Given the description of an element on the screen output the (x, y) to click on. 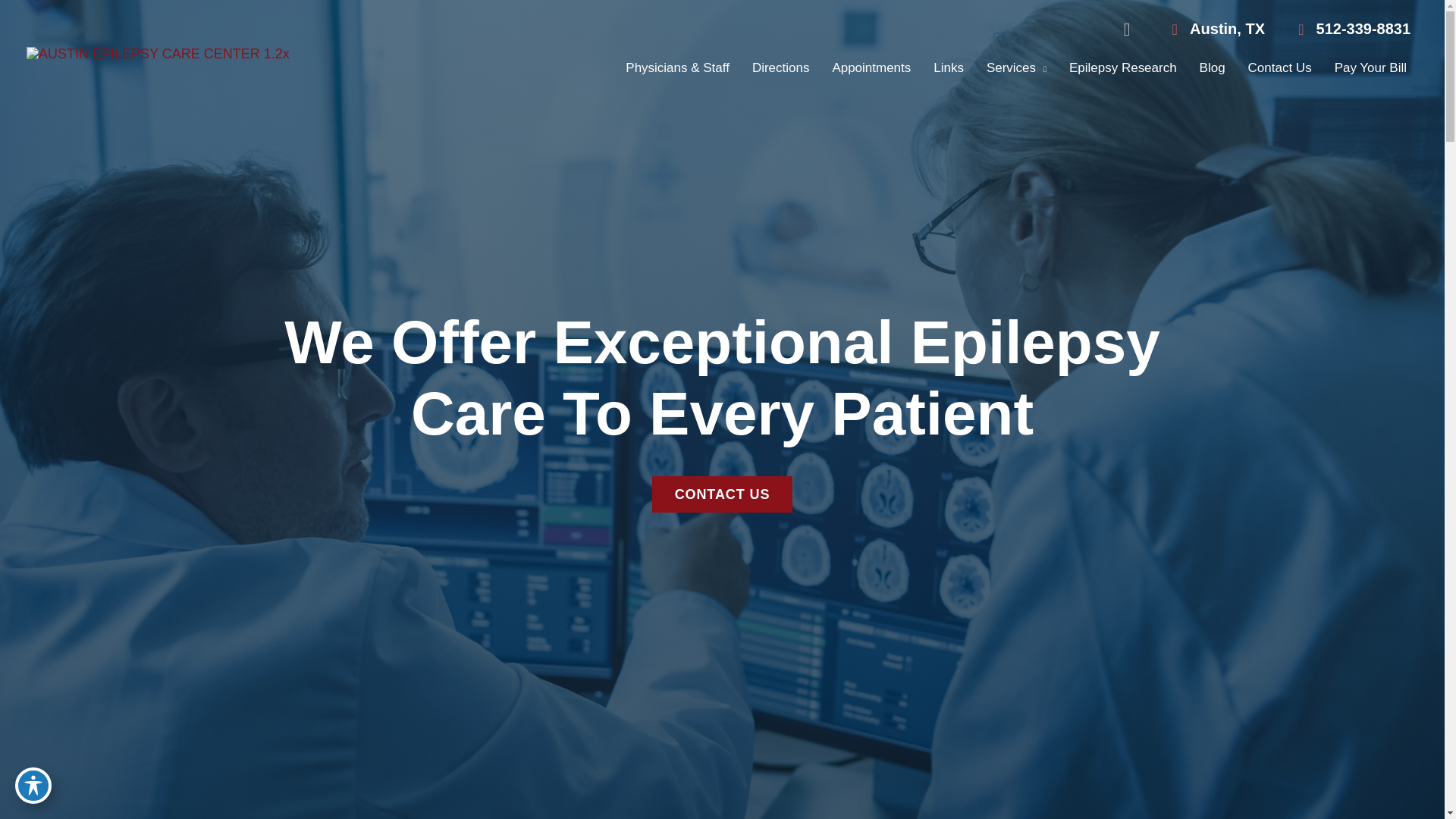
Pay Your Bill (1370, 67)
Contact Us (1279, 67)
Austin, TX (1227, 29)
Blog (1212, 67)
Links (948, 67)
CONTACT US (722, 494)
512-339-8831 (1346, 30)
Appointments (871, 67)
Directions (781, 67)
CONTACT US (722, 493)
